Given the description of an element on the screen output the (x, y) to click on. 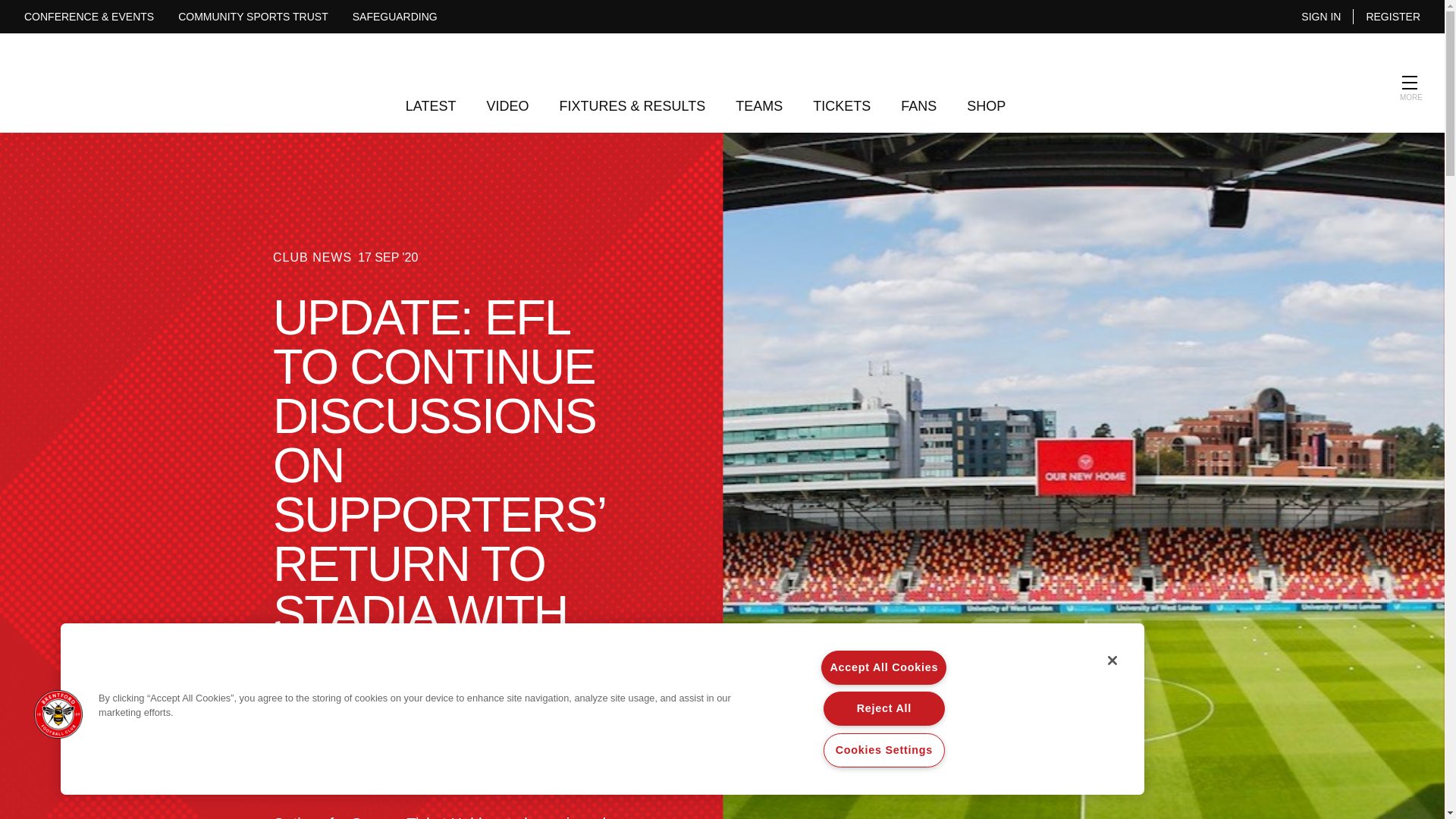
Register (1393, 16)
Safeguarding (395, 16)
SAFEGUARDING (395, 16)
Community Sports Trust (253, 16)
Brentford logo (722, 82)
Brentford logo (722, 51)
LATEST (430, 115)
TEAMS (758, 115)
COMMUNITY SPORTS TRUST (253, 16)
SIGN IN (1320, 16)
REGISTER (1393, 16)
Company Logo (57, 714)
VIDEO (506, 115)
Sign in (1320, 16)
